Given the description of an element on the screen output the (x, y) to click on. 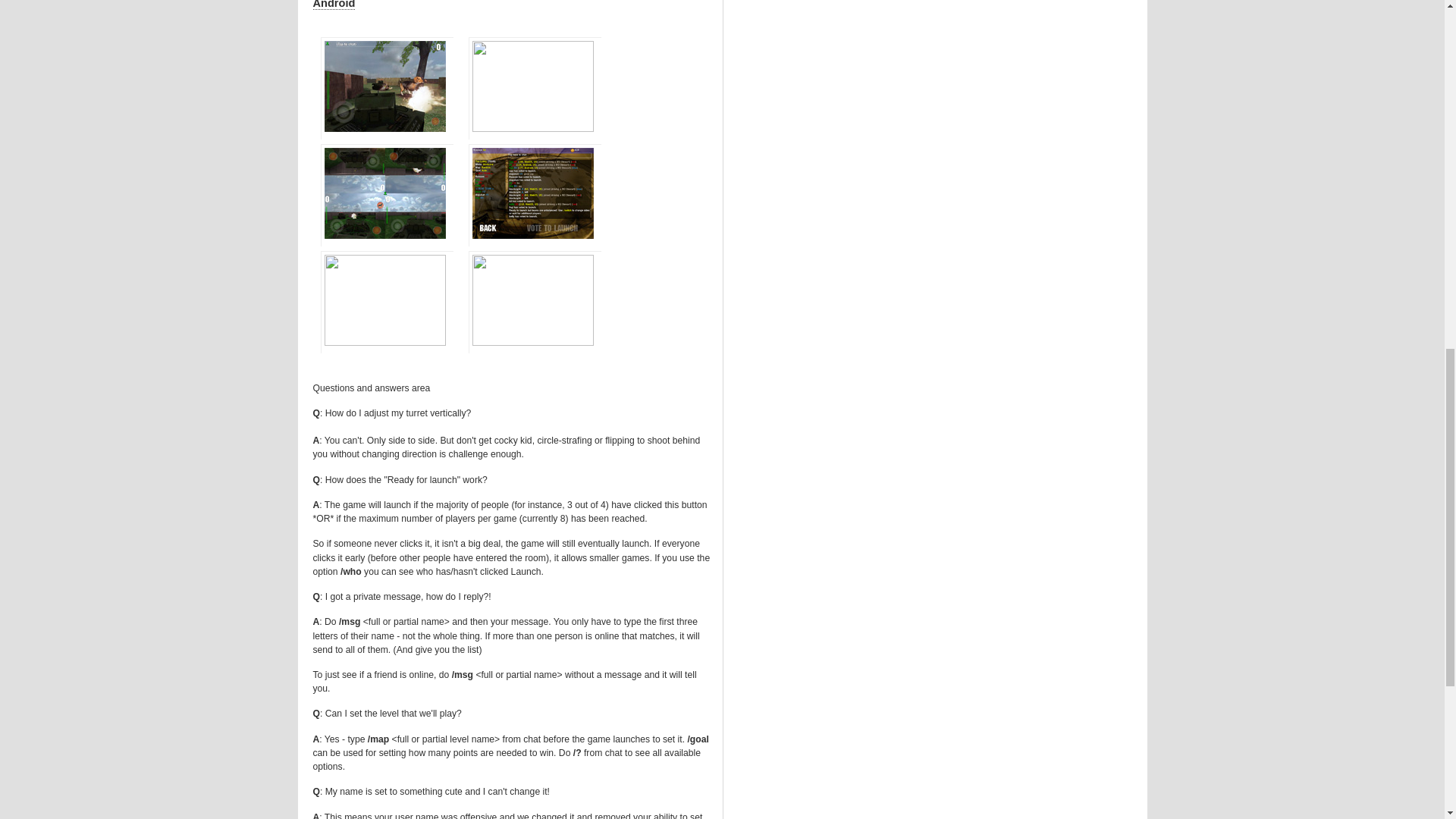
Android (334, 4)
